Given the description of an element on the screen output the (x, y) to click on. 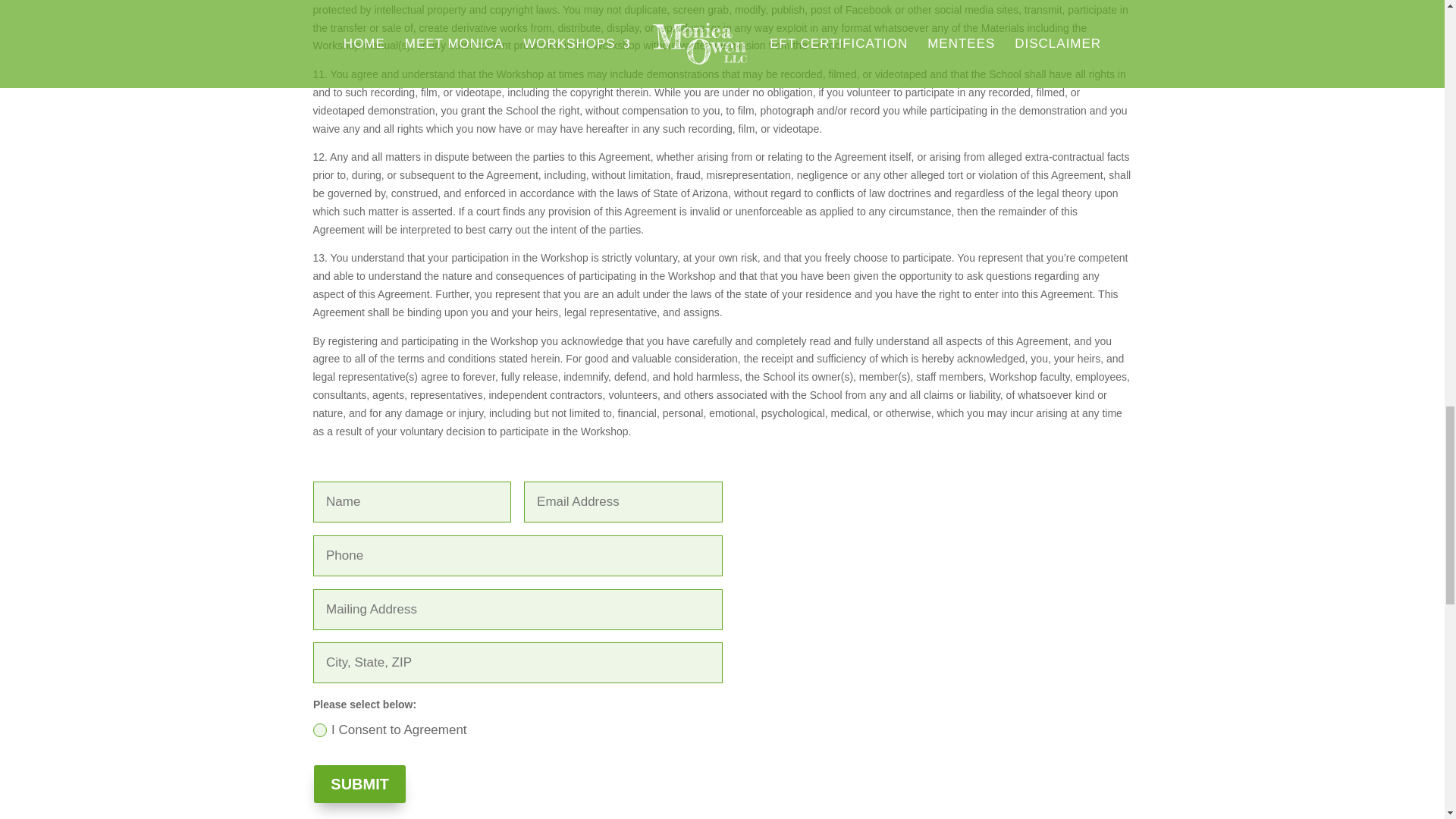
SUBMIT (360, 783)
